Given the description of an element on the screen output the (x, y) to click on. 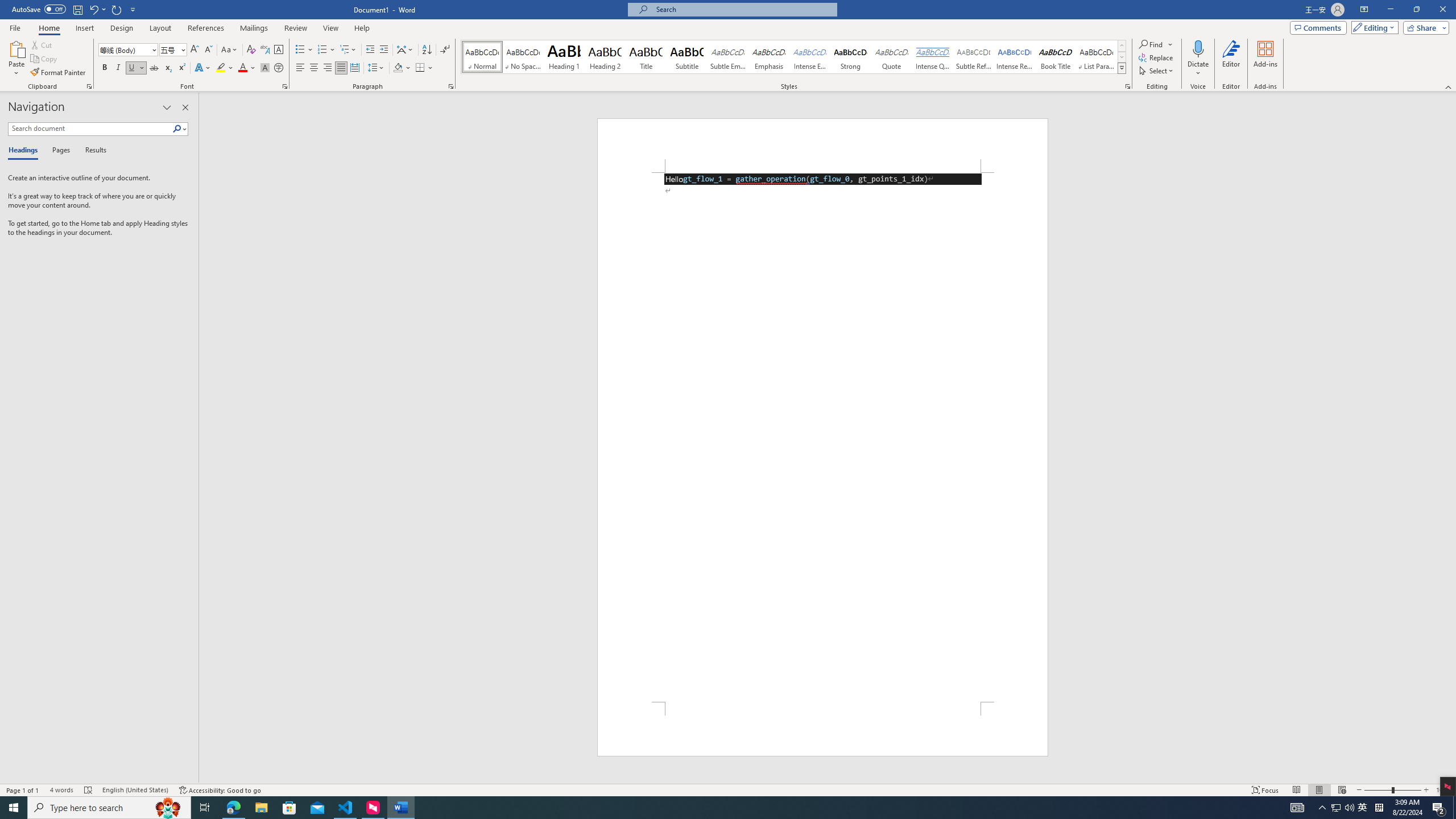
Text Highlight Color Yellow (220, 67)
Justify (340, 67)
Close pane (185, 107)
Emphasis (768, 56)
AutomationID: QuickStylesGallery (794, 56)
Paragraph... (450, 85)
Shrink Font (208, 49)
Grow Font (193, 49)
Text Highlight Color (224, 67)
